Given the description of an element on the screen output the (x, y) to click on. 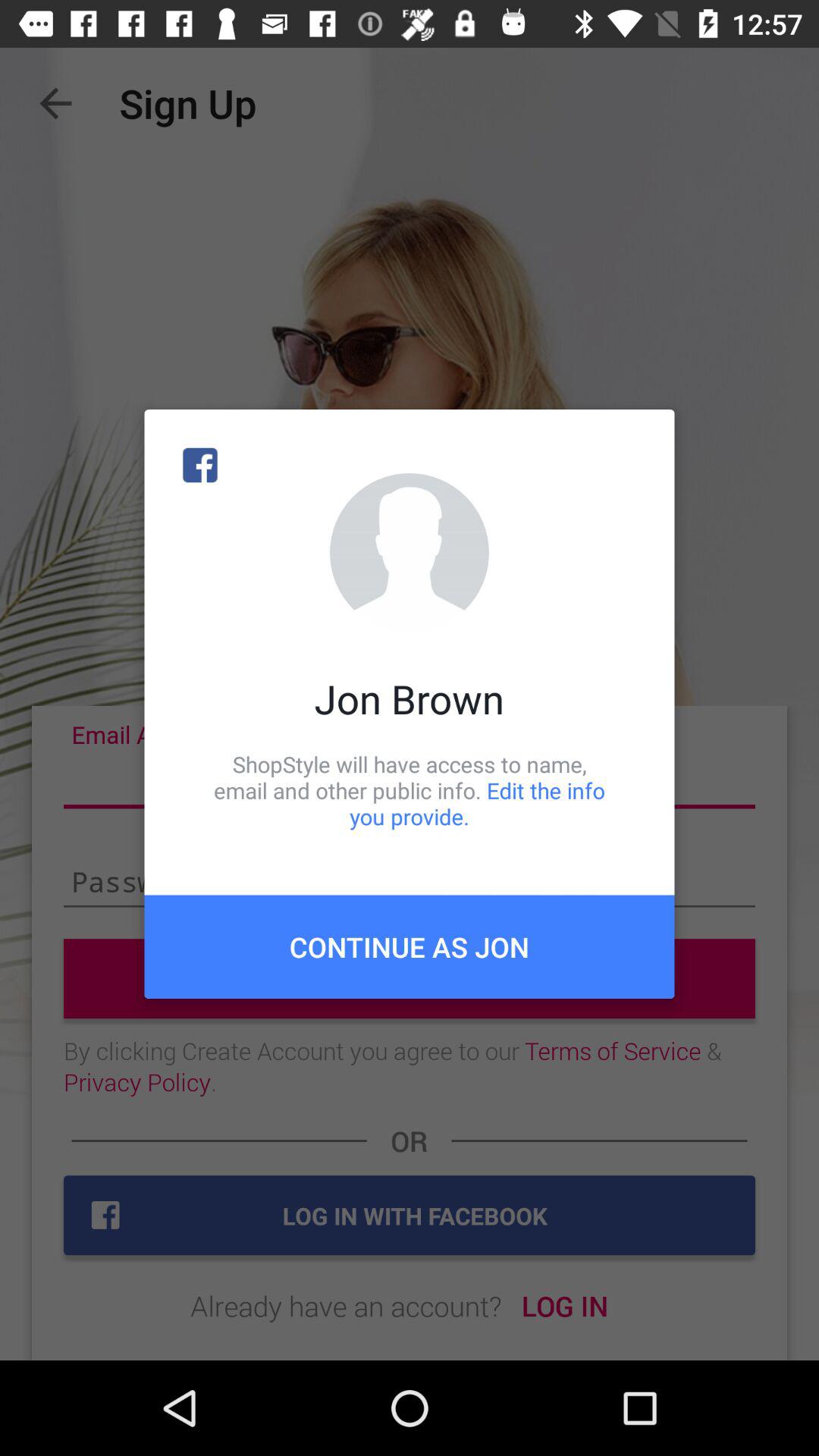
press icon below the shopstyle will have item (409, 946)
